Given the description of an element on the screen output the (x, y) to click on. 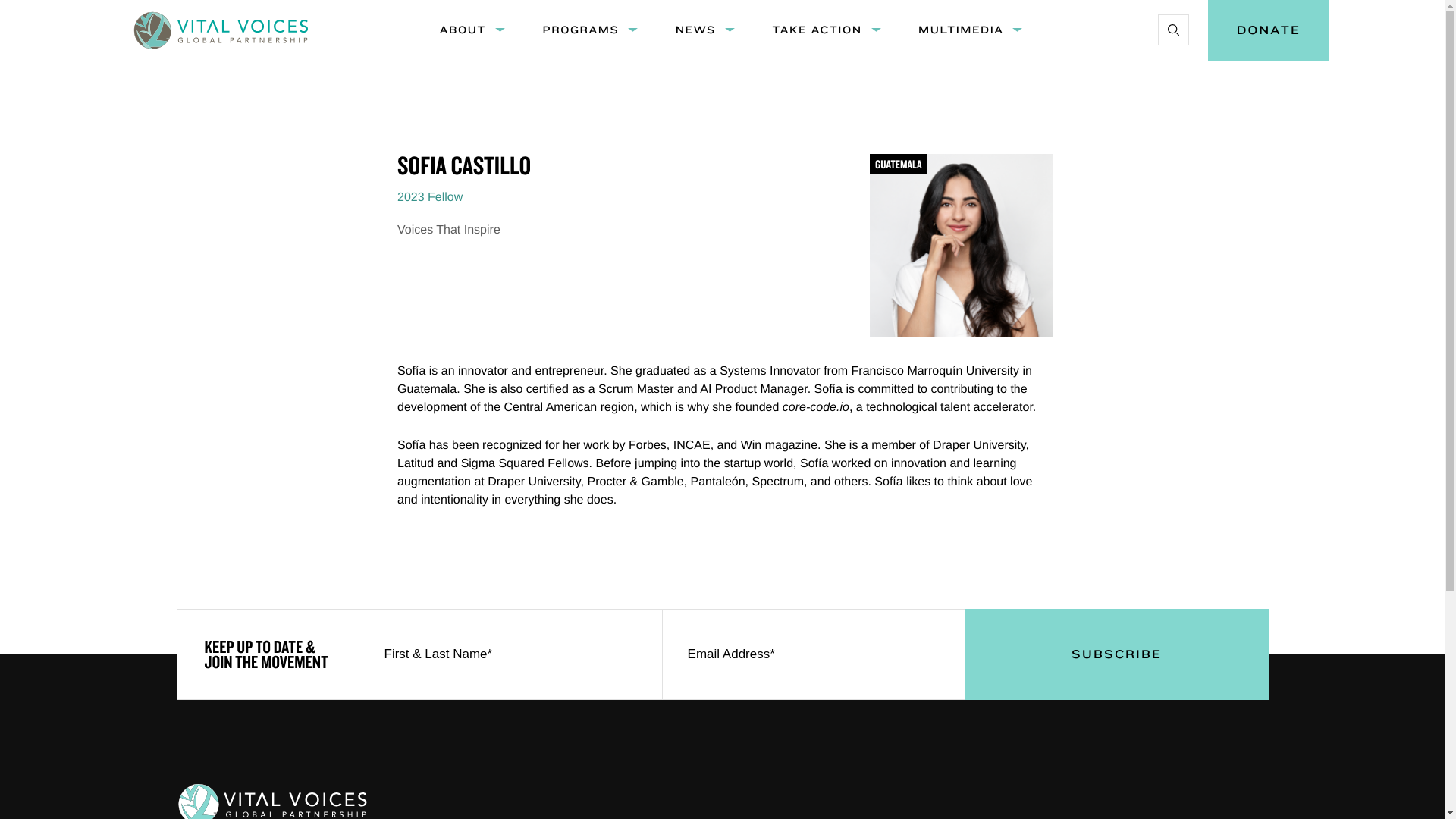
NEWS (694, 29)
Start Searching Vital Voices (1172, 29)
ABOUT (462, 29)
PROGRAMS (579, 29)
Subscribe (1116, 654)
TAKE ACTION (816, 29)
MULTIMEDIA (959, 29)
